Given the description of an element on the screen output the (x, y) to click on. 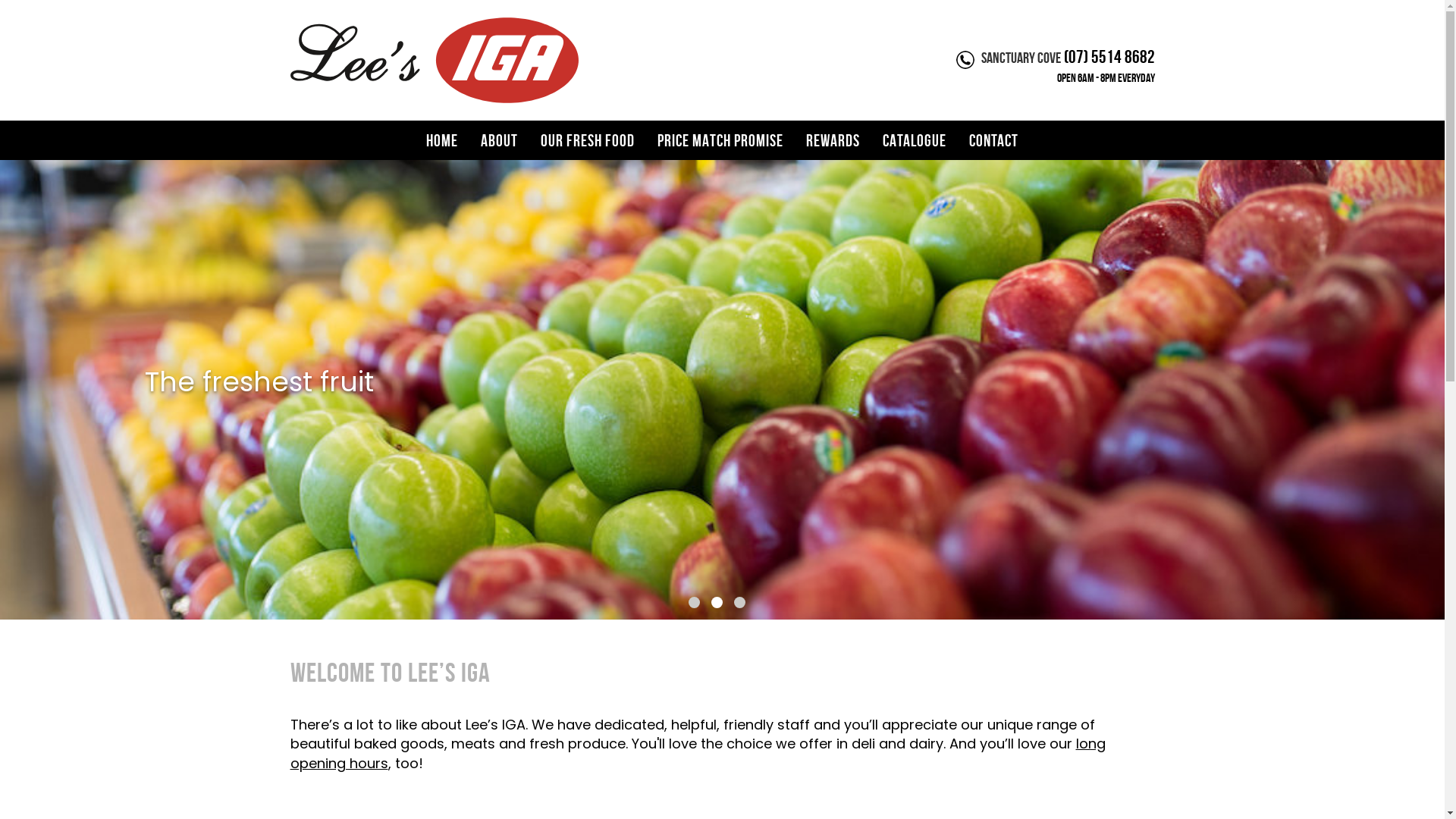
PRICE MATCH PROMISE Element type: text (720, 140)
HOME Element type: text (441, 140)
CATALOGUE Element type: text (914, 140)
OUR FRESH FOOD Element type: text (587, 140)
(07) 5514 8682 Element type: text (1108, 56)
ABOUT Element type: text (499, 140)
long opening hours Element type: text (696, 753)
2 Element type: text (716, 602)
1 Element type: text (693, 602)
3 Element type: text (739, 602)
REWARDS Element type: text (832, 140)
CONTACT Element type: text (993, 140)
